Given the description of an element on the screen output the (x, y) to click on. 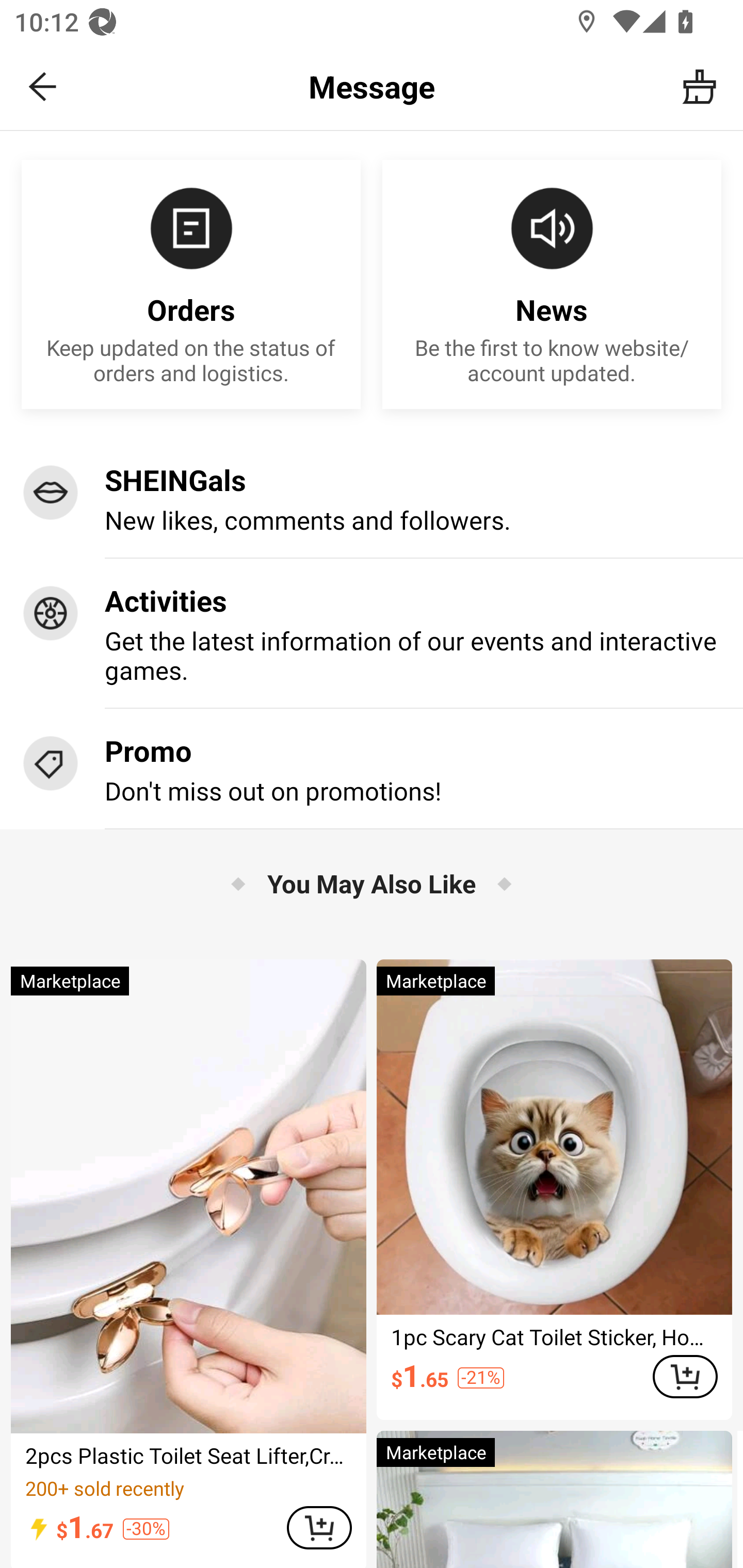
Navigate up (43, 86)
News Be the first to know website/account updated. (551, 284)
SHEINGals New likes, comments and followers. (371, 497)
Promo Don't miss out on promotions! (371, 768)
You May Also Like (371, 883)
ADD TO CART (684, 1376)
ADD TO CART (319, 1527)
